Given the description of an element on the screen output the (x, y) to click on. 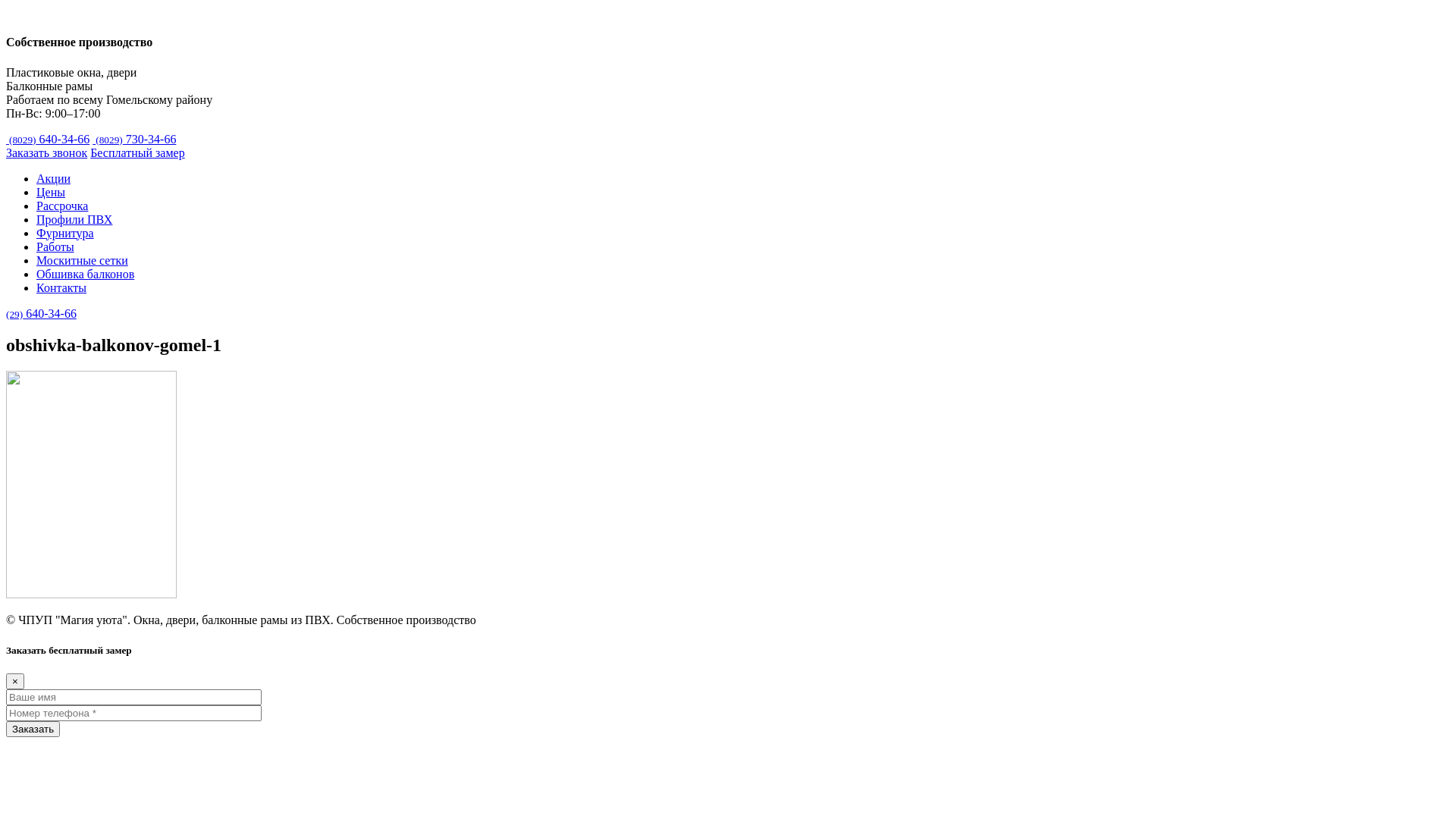
(29) 640-34-66 Element type: text (41, 313)
(8029) 640-34-66 Element type: text (47, 138)
(8029) 730-34-66 Element type: text (133, 138)
